Given the description of an element on the screen output the (x, y) to click on. 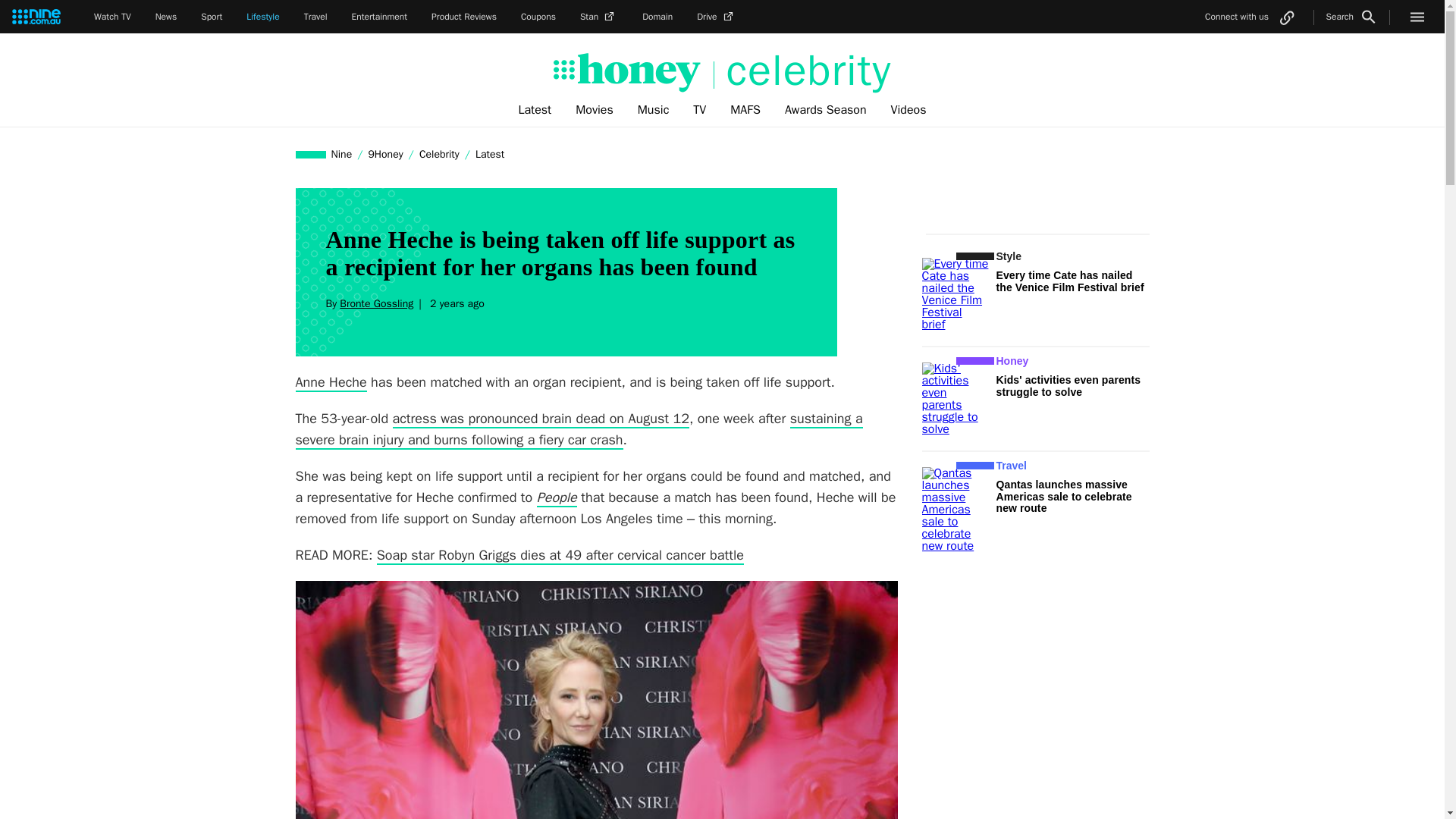
celebrity (802, 71)
Product Reviews (463, 16)
Domain (657, 16)
Watch TV (112, 16)
Entertainment (379, 16)
Awards Season (826, 109)
Coupons (538, 16)
People (556, 497)
2022-08-14 23:21 (454, 303)
